Given the description of an element on the screen output the (x, y) to click on. 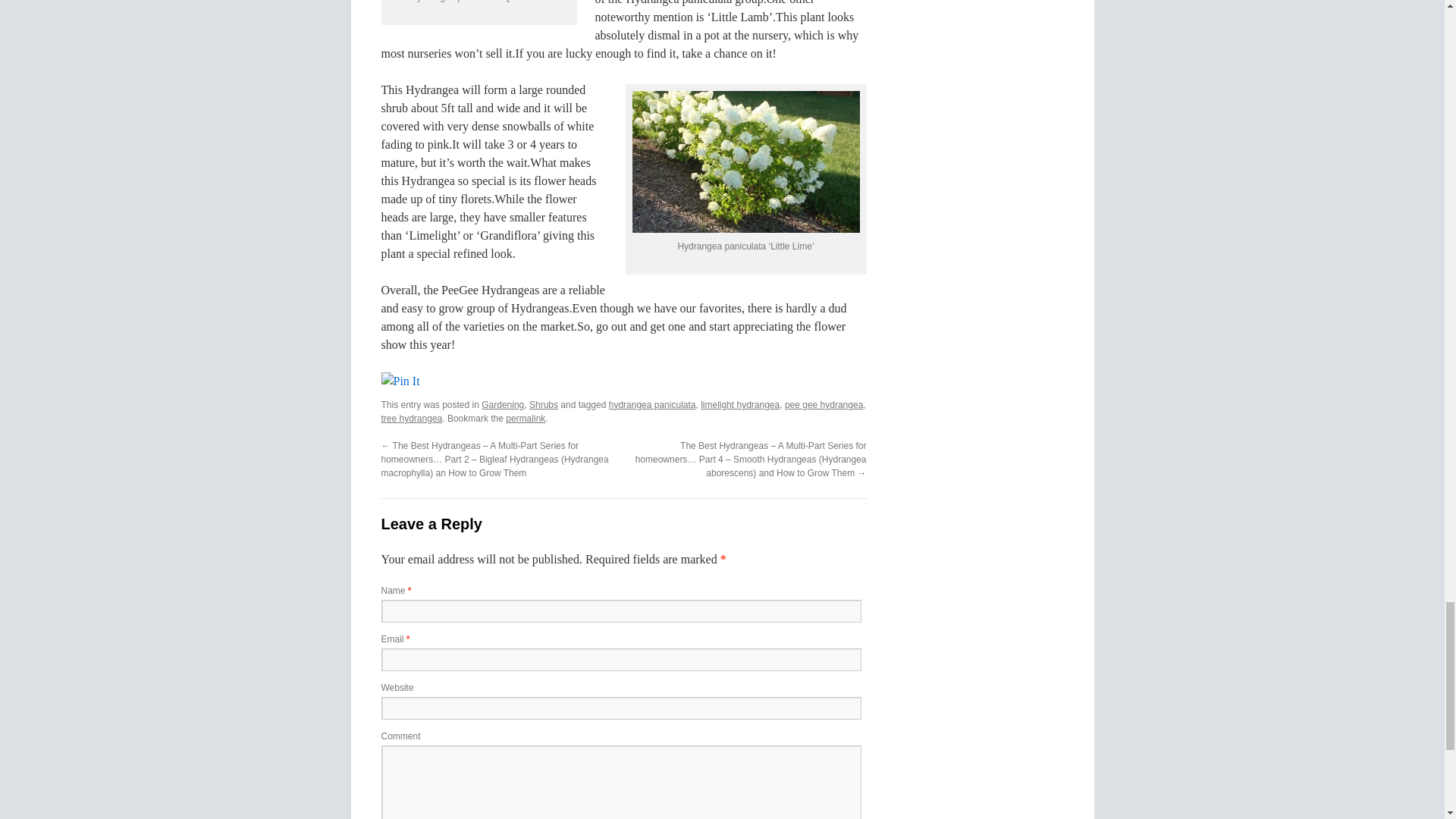
hydrangea paniculata 'Little Lime' (745, 161)
Pin It (399, 381)
